Given the description of an element on the screen output the (x, y) to click on. 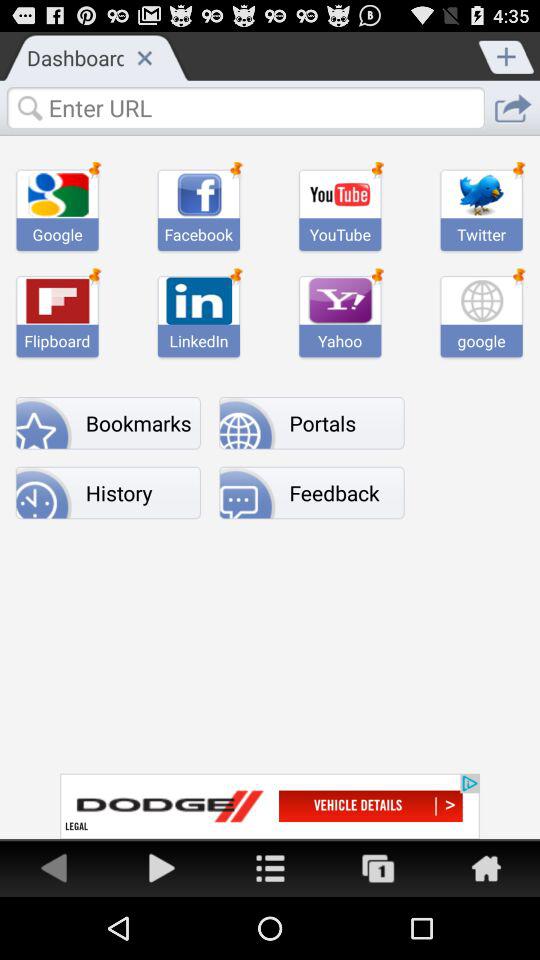
go to advertisement (378, 867)
